Given the description of an element on the screen output the (x, y) to click on. 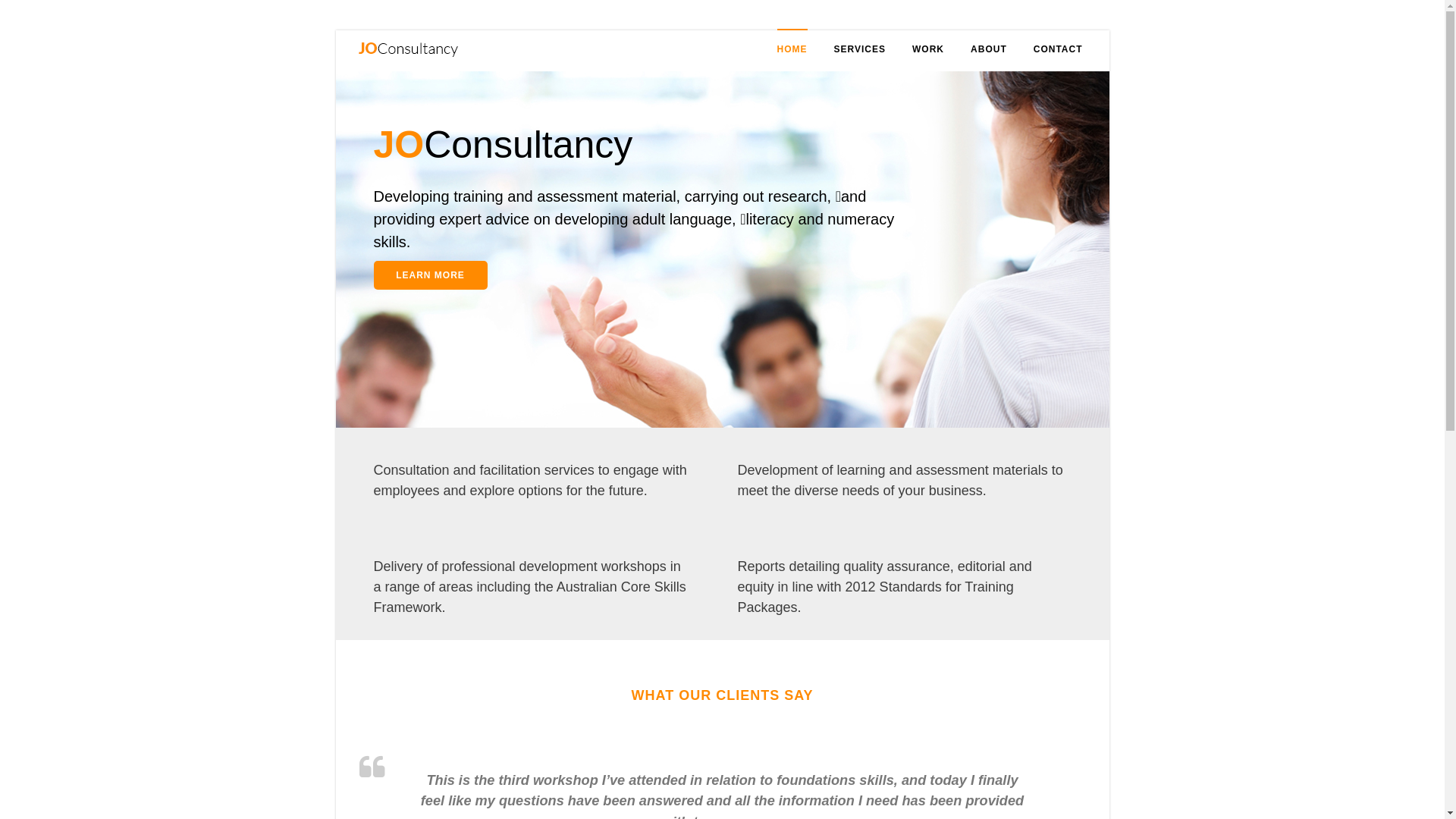
ABOUT Element type: text (988, 49)
CONTACT Element type: text (1057, 49)
HOME Element type: text (792, 48)
WORK Element type: text (928, 49)
SERVICES Element type: text (859, 49)
